Given the description of an element on the screen output the (x, y) to click on. 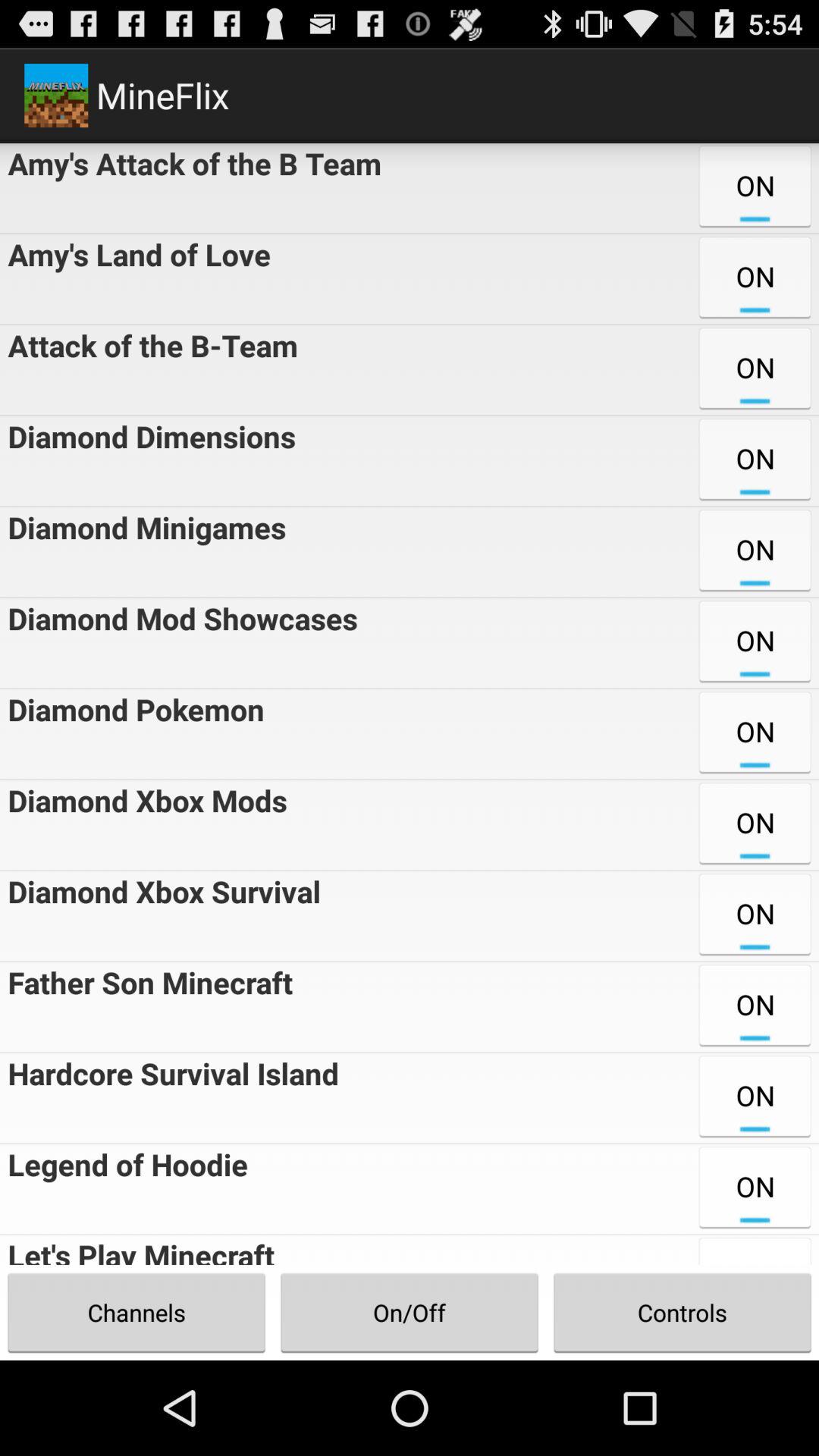
launch the icon next to the on item (132, 734)
